Given the description of an element on the screen output the (x, y) to click on. 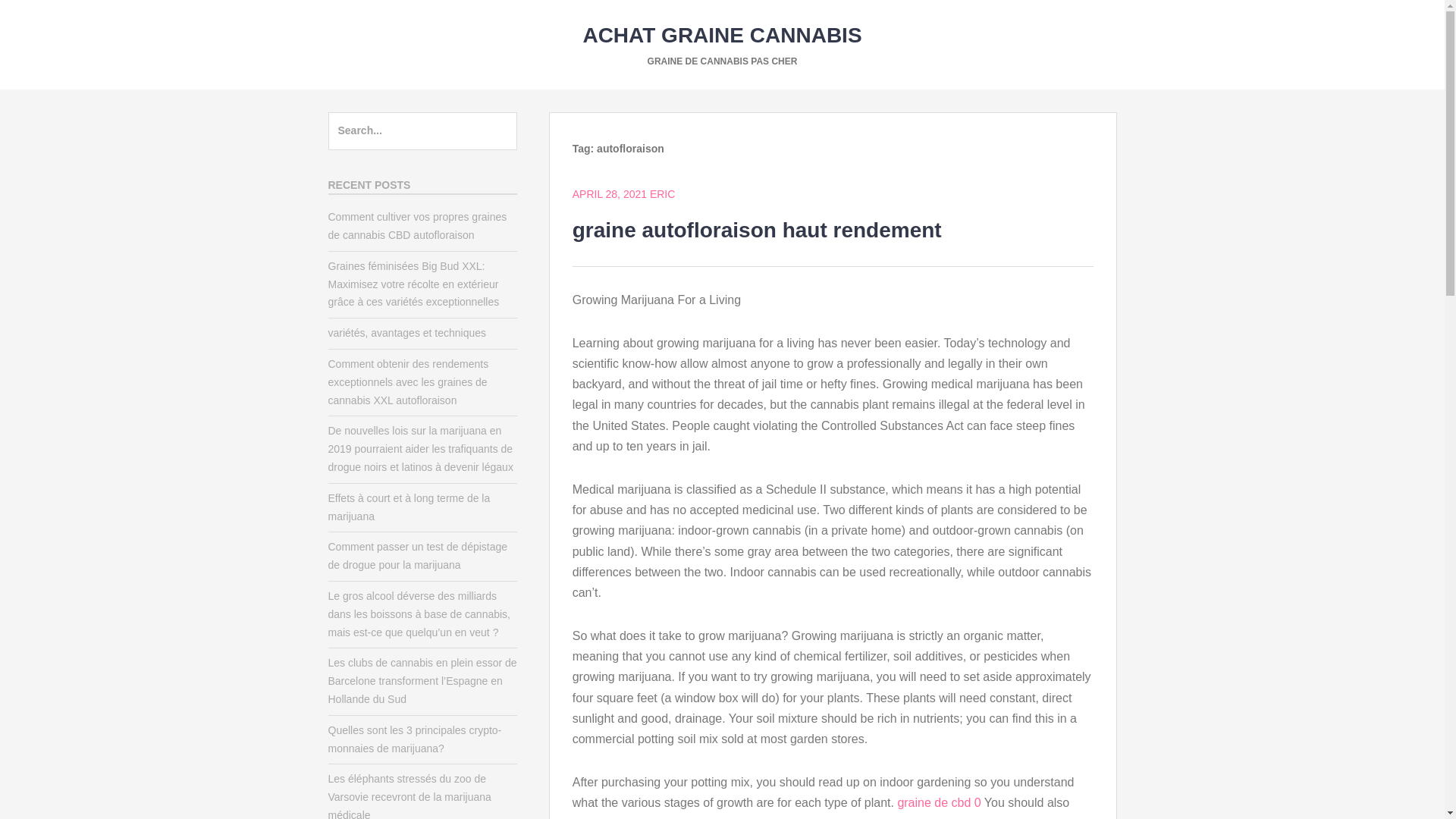
Search (44, 18)
graine de cbd 0 (937, 802)
Search for: (421, 130)
graine autofloraison haut rendement (757, 229)
ACHAT GRAINE CANNABIS (721, 34)
APRIL 28, 2021 (609, 193)
ERIC (662, 193)
Quelles sont les 3 principales crypto-monnaies de marijuana? (413, 738)
